Given the description of an element on the screen output the (x, y) to click on. 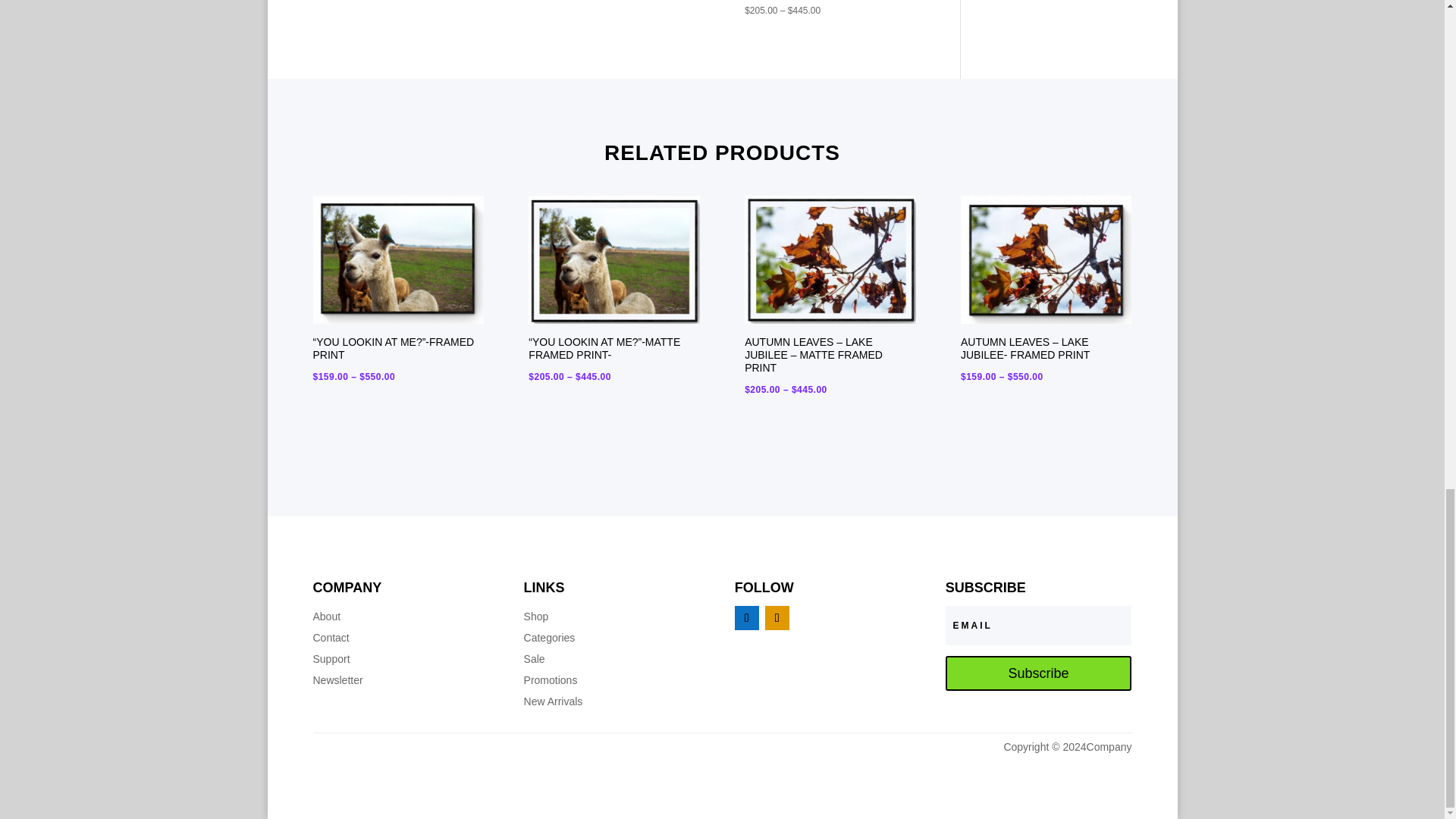
Contact (331, 637)
Shop (536, 616)
Newsletter (337, 680)
Sale (534, 658)
Support (331, 658)
Categories (549, 637)
About (326, 616)
Follow on Instagram (777, 617)
Follow on Facebook (746, 617)
